Given the description of an element on the screen output the (x, y) to click on. 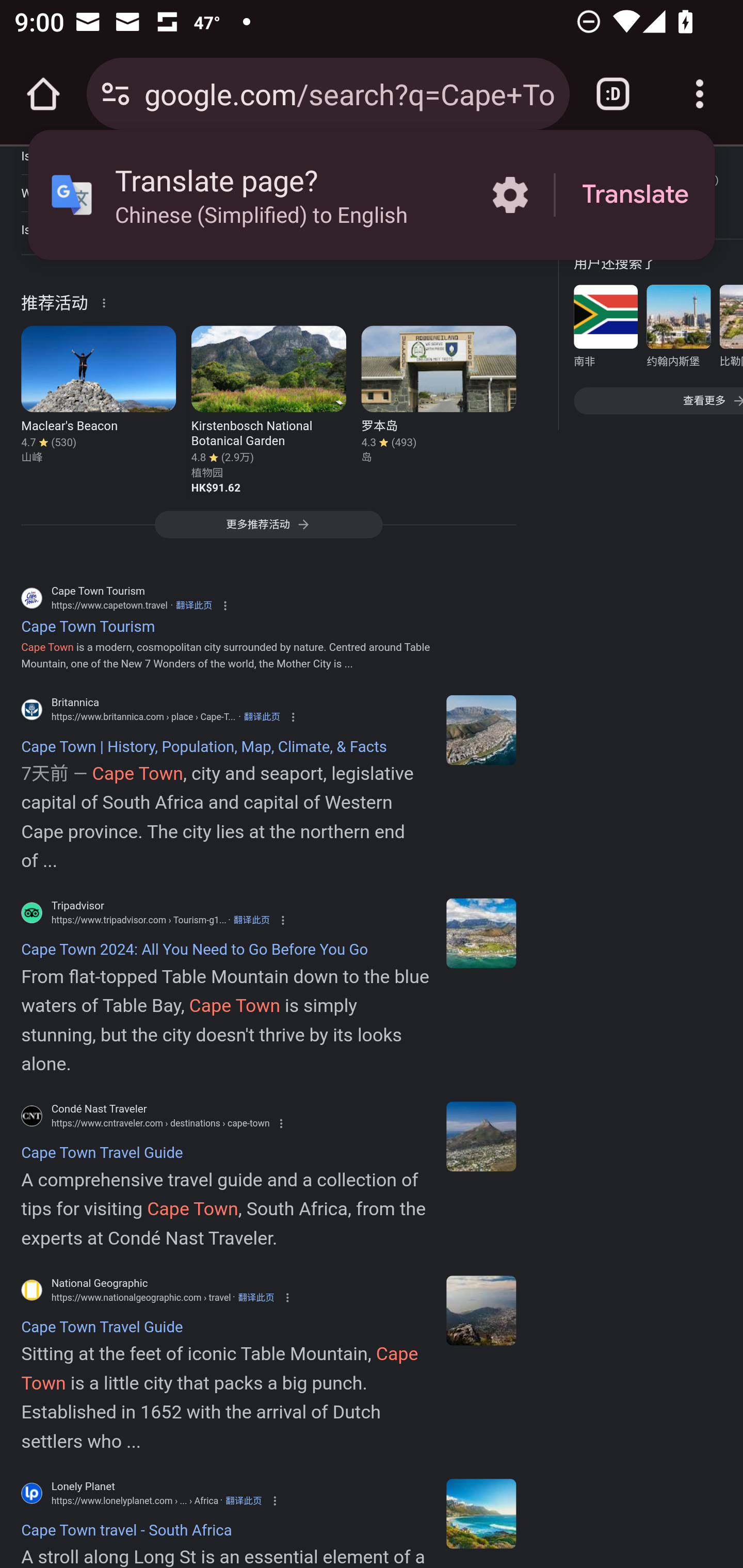
Open the home page (43, 93)
Connection is secure (115, 93)
Switch or close tabs (612, 93)
Customize and control Google Chrome (699, 93)
Translate (634, 195)
More options in the Translate page? (509, 195)
南非 (605, 330)
约翰内斯堡 (678, 330)
关于这条结果的详细信息 (107, 302)
查看更多 查看更多 查看更多 (657, 401)
更多推荐活动 (267, 531)
翻译此页 (193, 605)
Cape-Town (480, 729)
翻译此页 (261, 717)
Tourism-g1722390-Cape_Town_Western_Cape-Vacations (480, 933)
翻译此页 (251, 921)
cape-town (480, 1137)
cape-town (480, 1310)
翻译此页 (255, 1298)
cape-town (480, 1513)
翻译此页 (243, 1501)
